Given the description of an element on the screen output the (x, y) to click on. 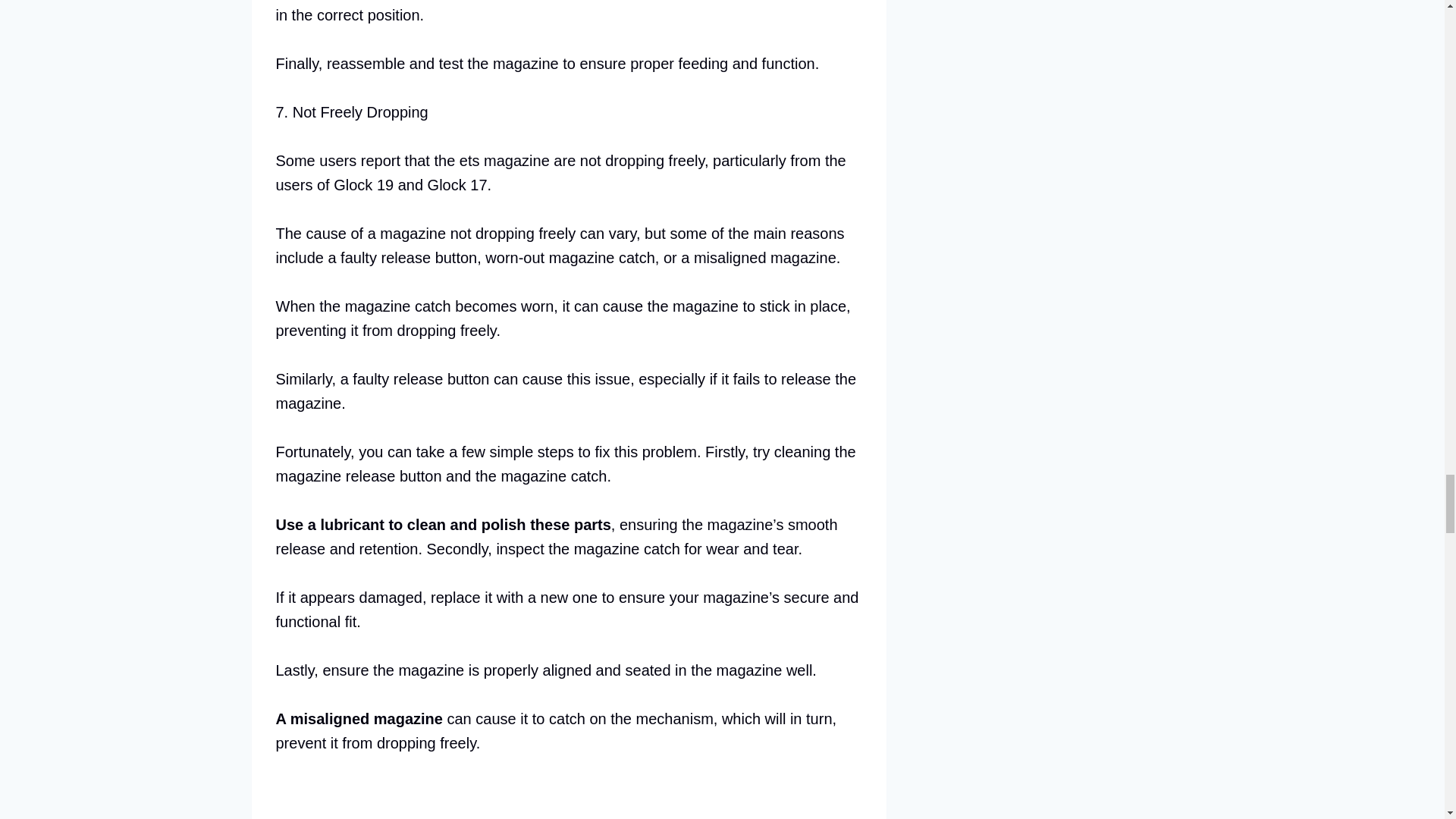
YouTube video player (488, 799)
